Given the description of an element on the screen output the (x, y) to click on. 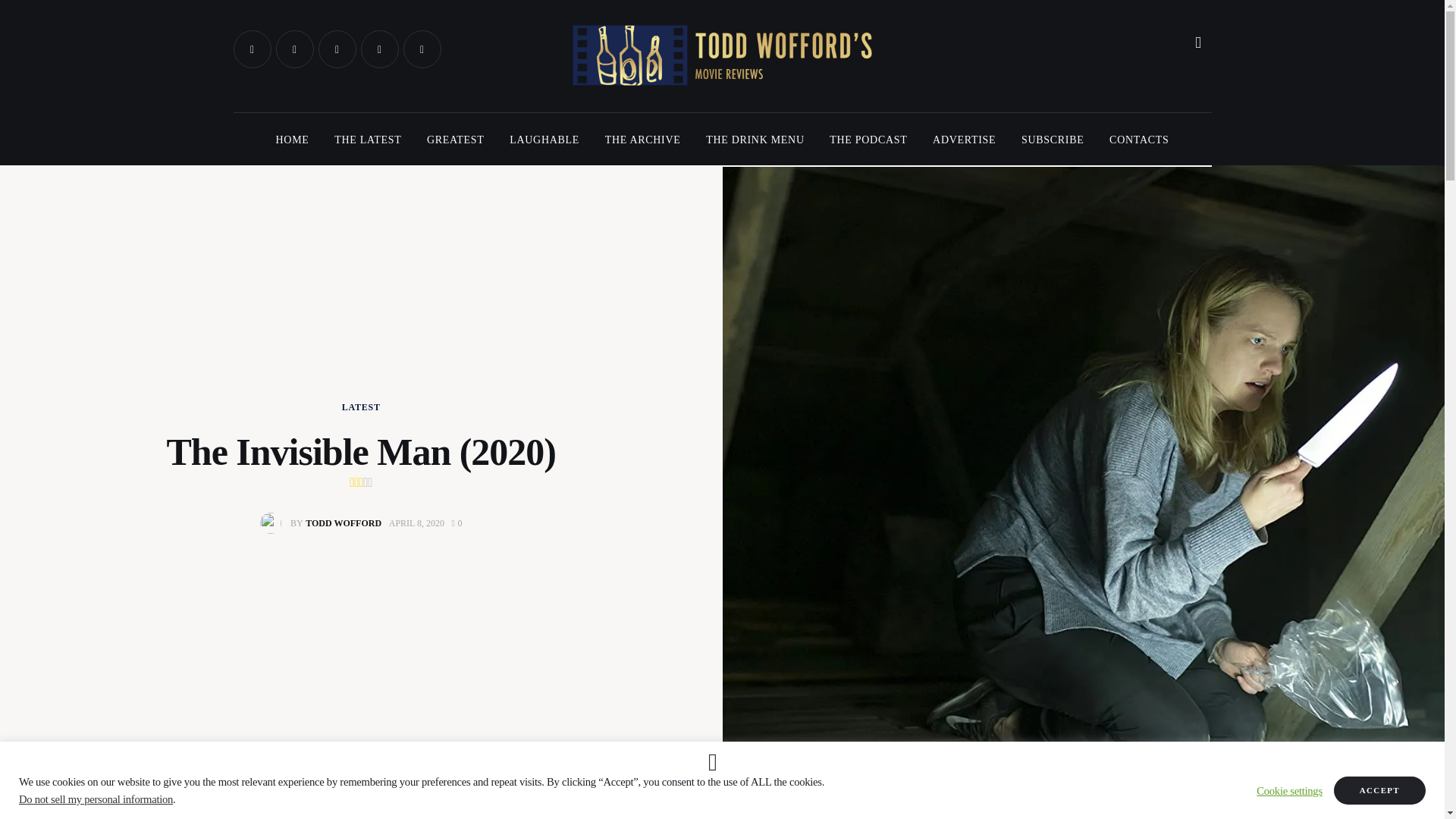
ADVERTISE (964, 139)
SUBSCRIBE (1052, 139)
THE PODCAST (868, 139)
HOME (292, 139)
CONTACTS (1138, 139)
THE ARCHIVE (642, 139)
THE DRINK MENU (754, 139)
LAUGHABLE (543, 139)
GREATEST (454, 139)
THE LATEST (367, 139)
